Given the description of an element on the screen output the (x, y) to click on. 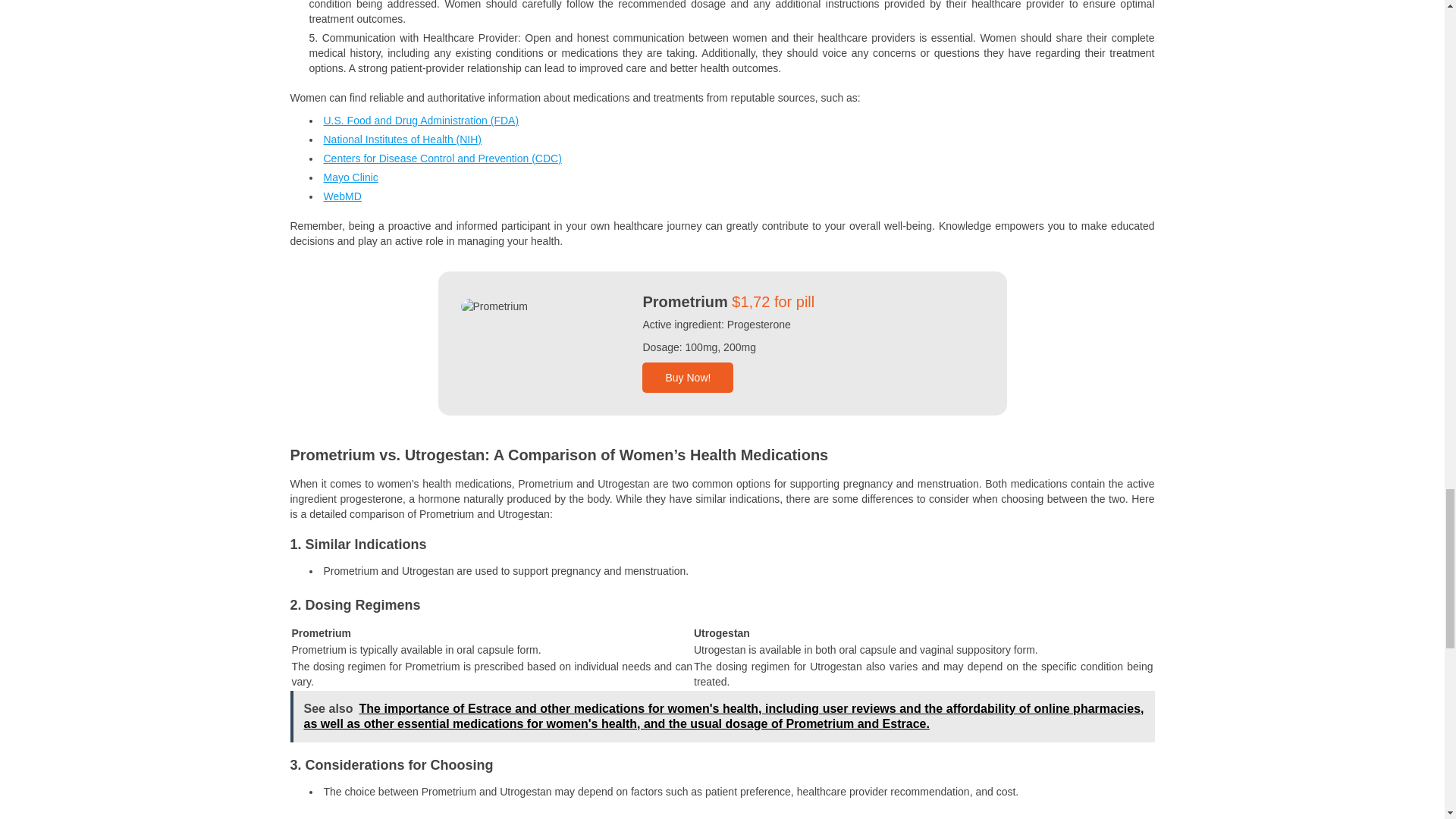
Buy Now! (687, 377)
WebMD (342, 196)
Mayo Clinic (350, 177)
